Given the description of an element on the screen output the (x, y) to click on. 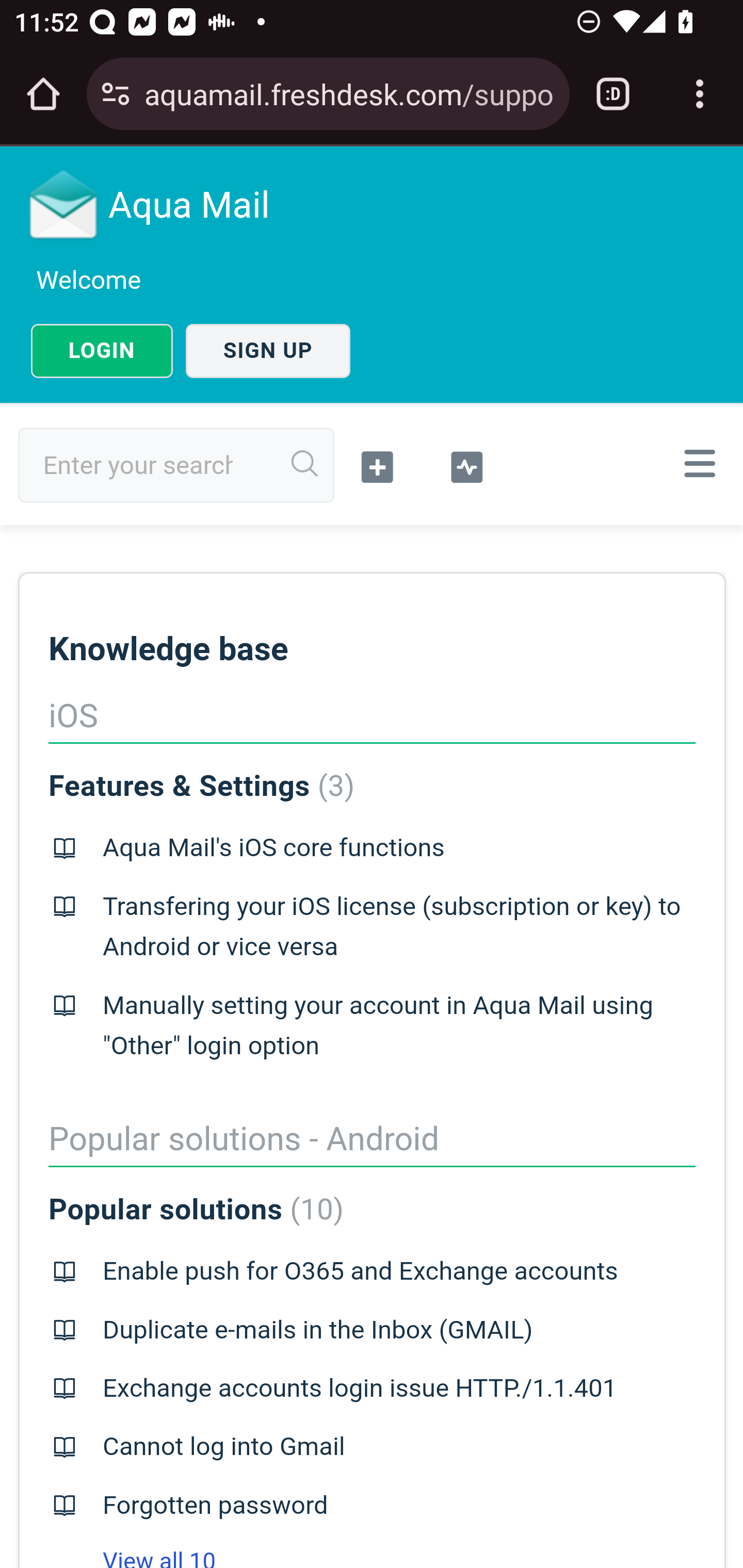
Open the home page (43, 93)
Connection is secure (115, 93)
Switch or close tabs (612, 93)
Customize and control Google Chrome (699, 93)
aquamail.freshdesk.com/support/home (349, 92)
Logo (63, 204)
LOGIN (101, 351)
SIGN UP (268, 351)
 (695, 463)
Search (305, 464)
 (377, 464)
 (466, 464)
iOS iOS iOS (371, 716)
Features & Settings (3) Features & Settings  ( 3 ) (200, 786)
Aqua Mail's iOS core functions (273, 847)
Popular solutions (10) Popular solutions  ( 10 ) (195, 1209)
Enable push for O365 and Exchange accounts (359, 1271)
Duplicate e-mails in the Inbox (GMAIL) (317, 1329)
Exchange accounts login issue HTTP./1.1.401 (359, 1388)
Cannot log into Gmail (223, 1446)
Forgotten password (214, 1504)
View all 10 (131, 1557)
